Given the description of an element on the screen output the (x, y) to click on. 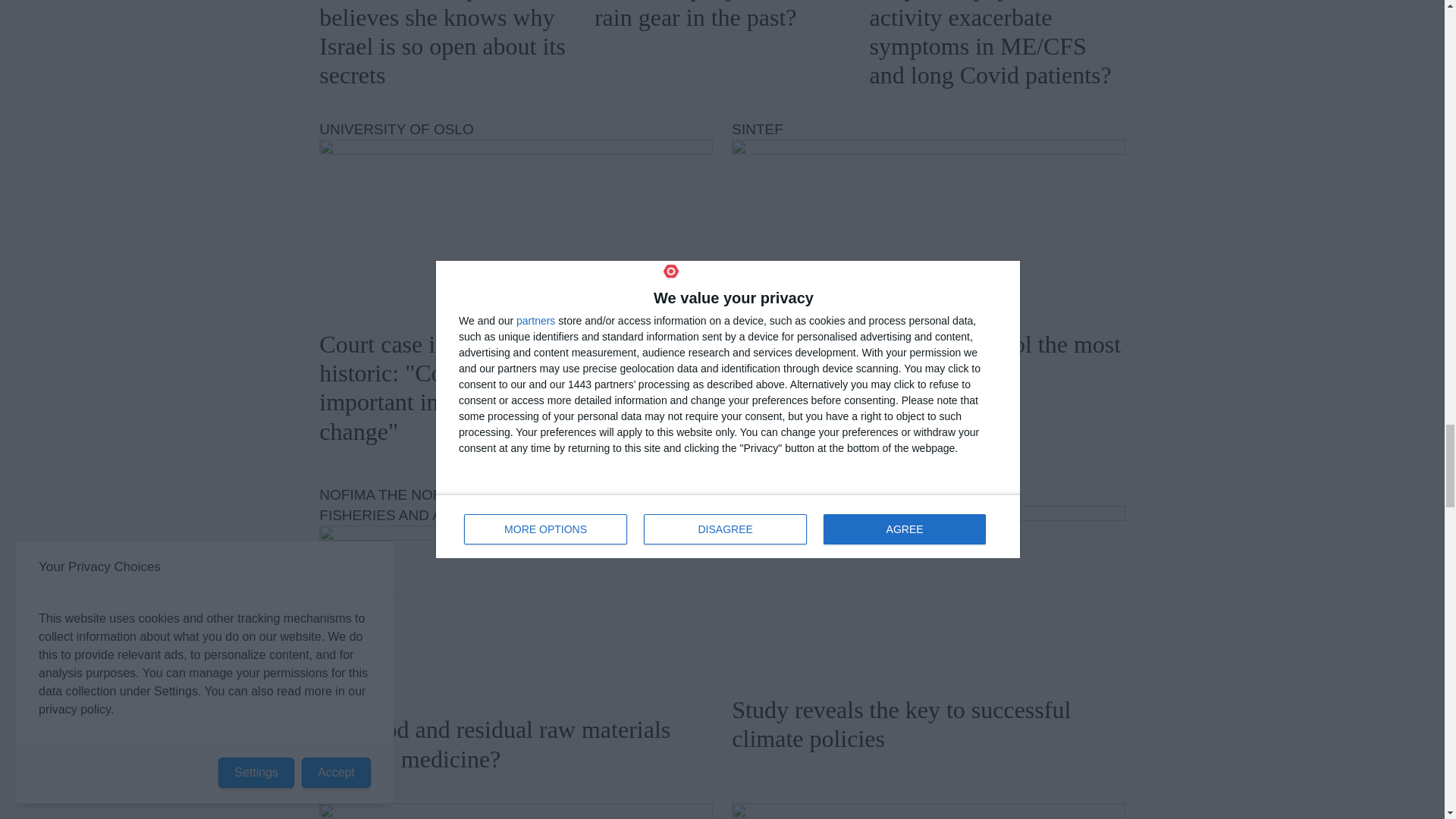
Offering products 'for him' or 'for her' is risky business (928, 811)
Study reveals the key to successful climate policies (928, 594)
Can food and residual raw materials become medicine? (514, 613)
Norwegian boys dislike school the most (928, 227)
